Given the description of an element on the screen output the (x, y) to click on. 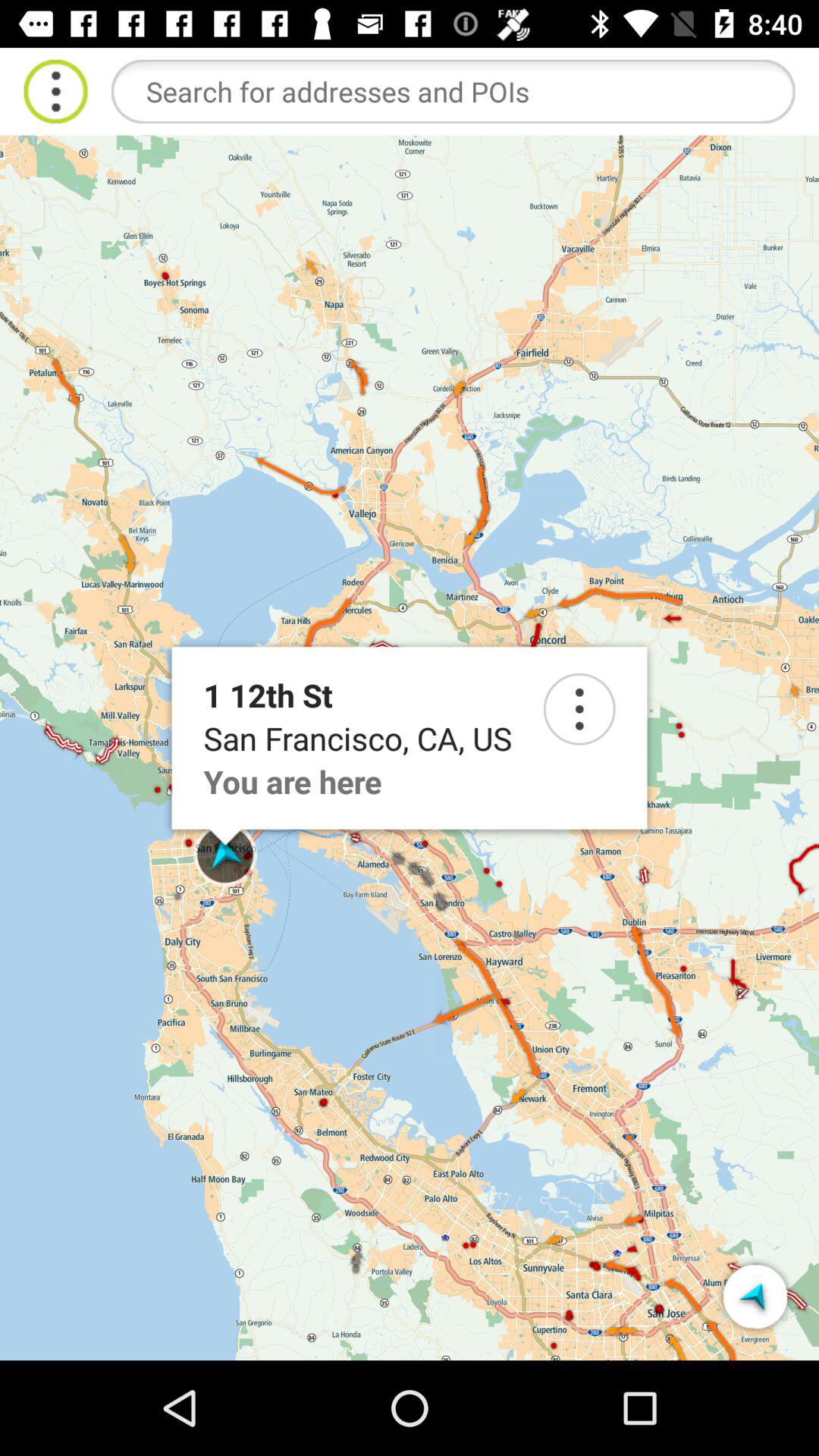
go to location option (579, 709)
